Given the description of an element on the screen output the (x, y) to click on. 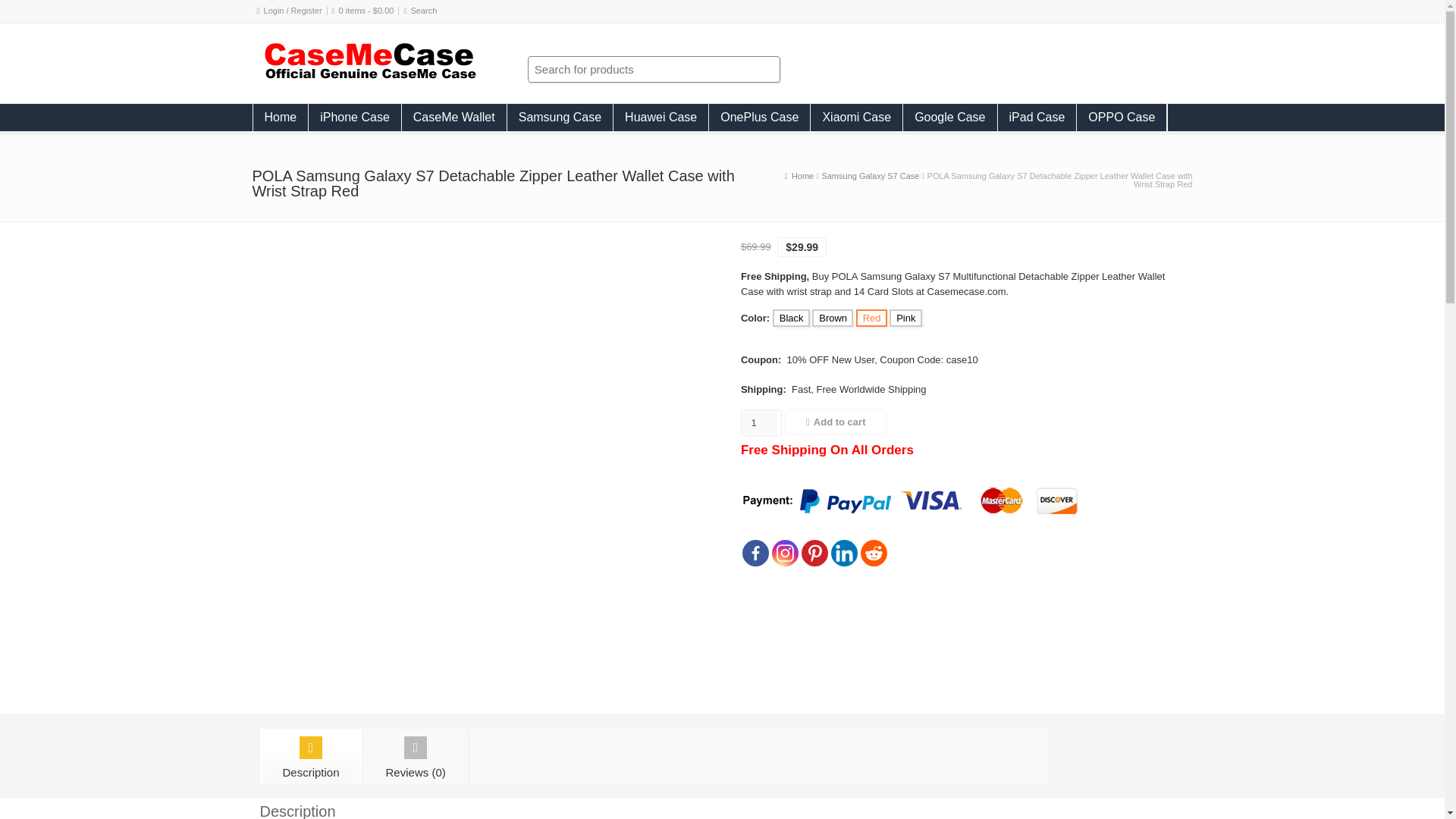
iPhone Case (354, 117)
Reddit (873, 552)
View your shopping cart (366, 10)
Facebook (755, 552)
Home (280, 117)
Instagram (784, 552)
Pinterest (815, 552)
Official CaseMe Case (369, 76)
Search (424, 10)
Linkedin (844, 552)
1 (759, 422)
Search (424, 10)
Official CaseMe Case (802, 175)
